Given the description of an element on the screen output the (x, y) to click on. 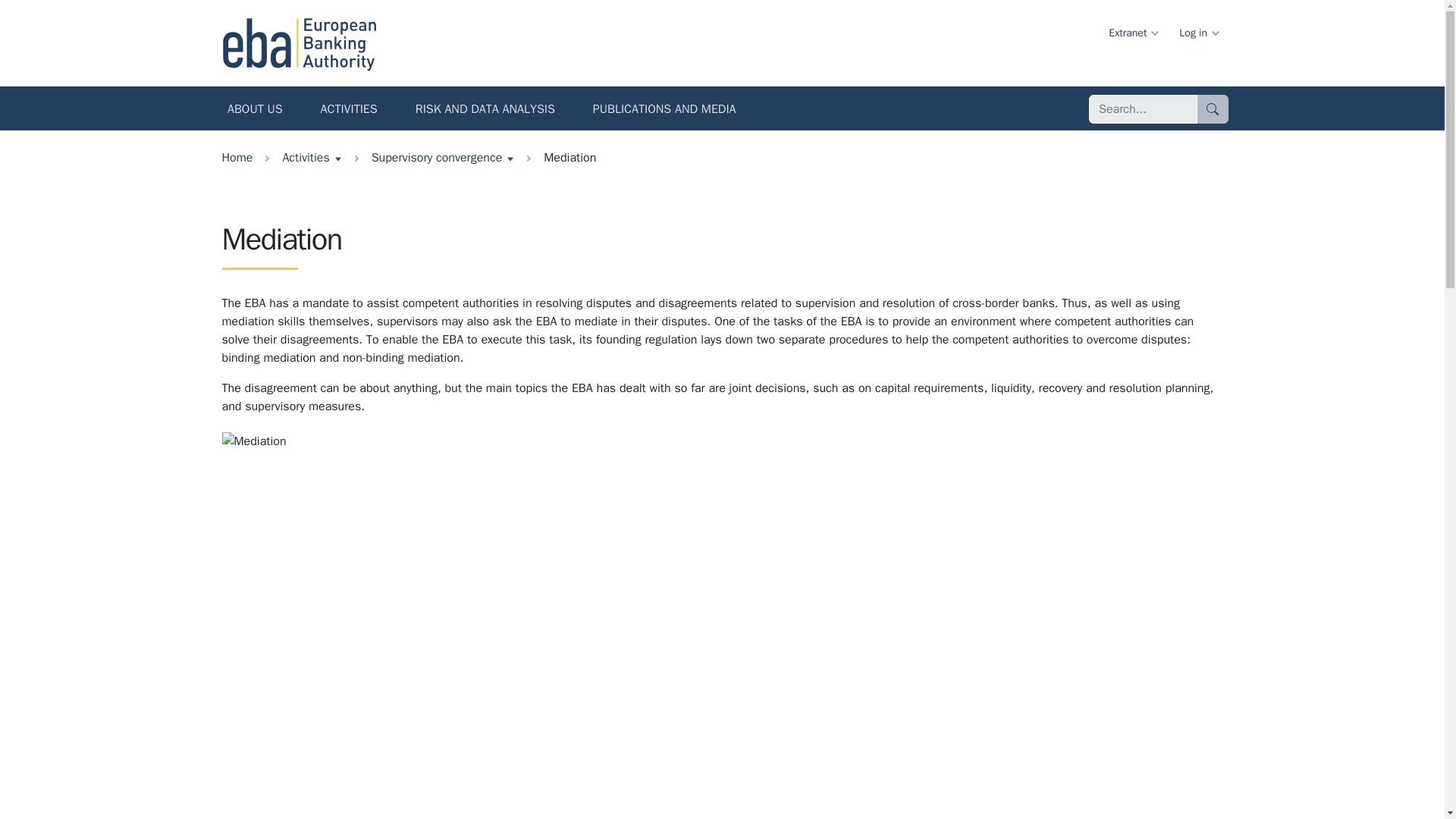
Extranet (1132, 32)
ABOUT US (254, 111)
Log in (1197, 32)
Enter the terms you wish to search for. (1142, 109)
ACTIVITIES (348, 111)
